Given the description of an element on the screen output the (x, y) to click on. 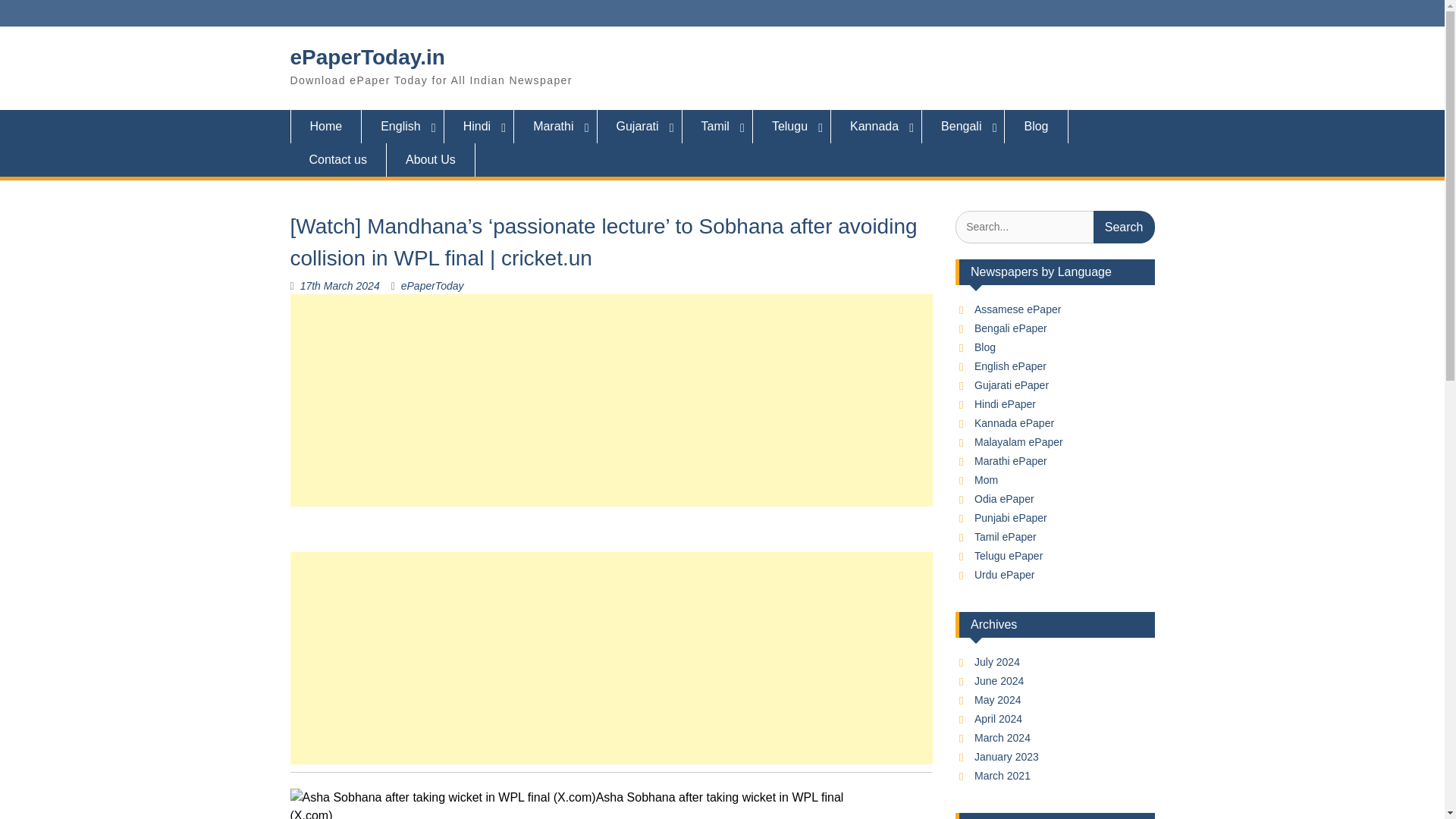
Blog (1035, 126)
Bengali (962, 126)
Home (325, 126)
Search for: (1054, 226)
Gujarati (639, 126)
ePaperToday.in (366, 56)
Hindi (478, 126)
Marathi (554, 126)
Search (1123, 226)
Contact us (337, 159)
Telugu (791, 126)
English (402, 126)
Kannada (876, 126)
About Us (431, 159)
Search (1123, 226)
